Given the description of an element on the screen output the (x, y) to click on. 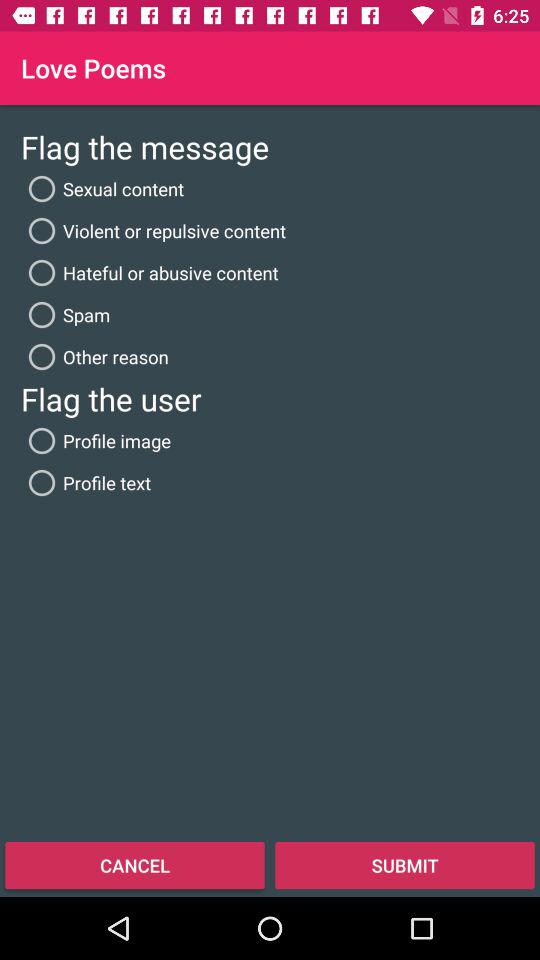
flip to spam radio button (65, 314)
